Given the description of an element on the screen output the (x, y) to click on. 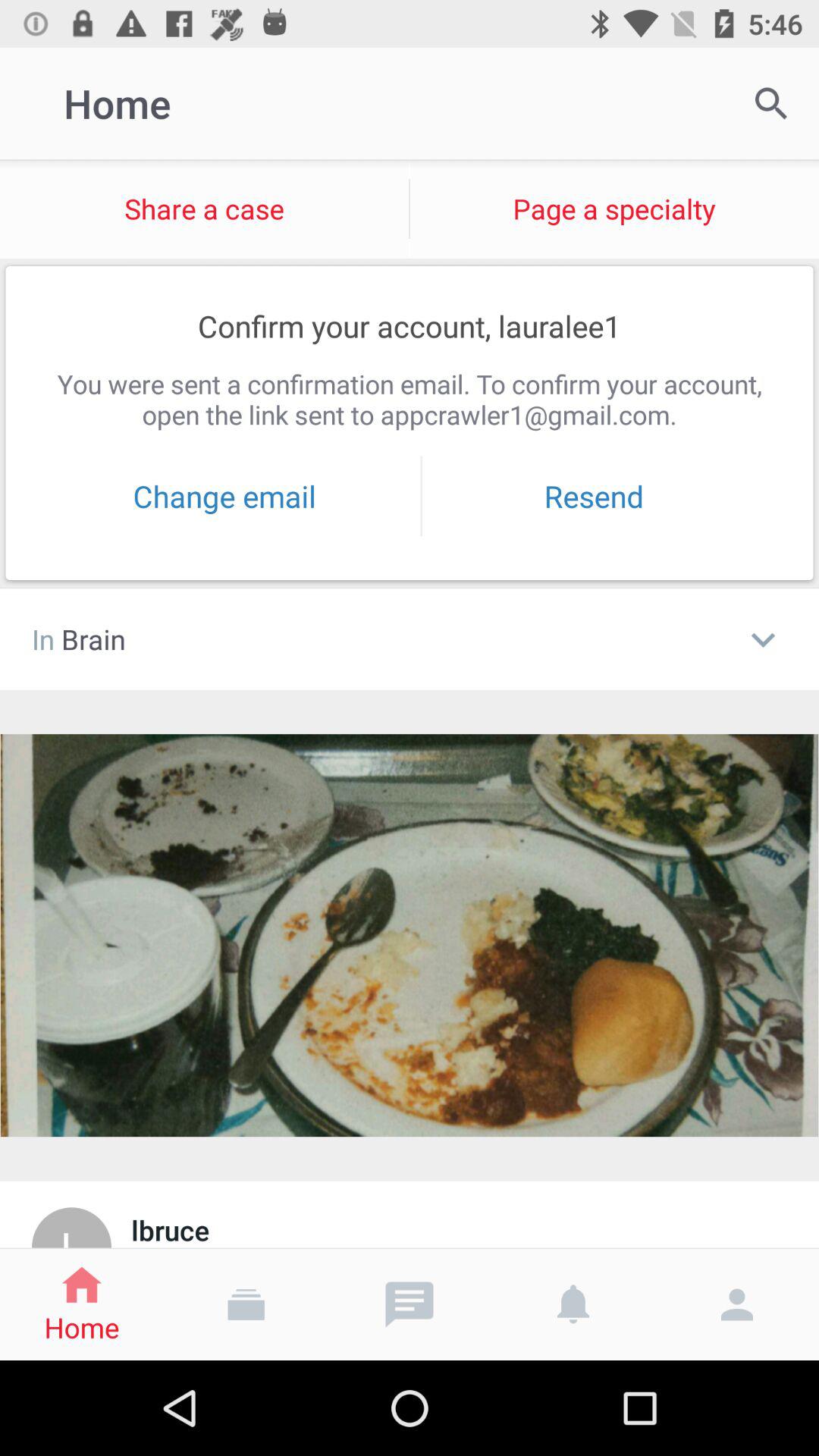
jump until share a case item (204, 208)
